Given the description of an element on the screen output the (x, y) to click on. 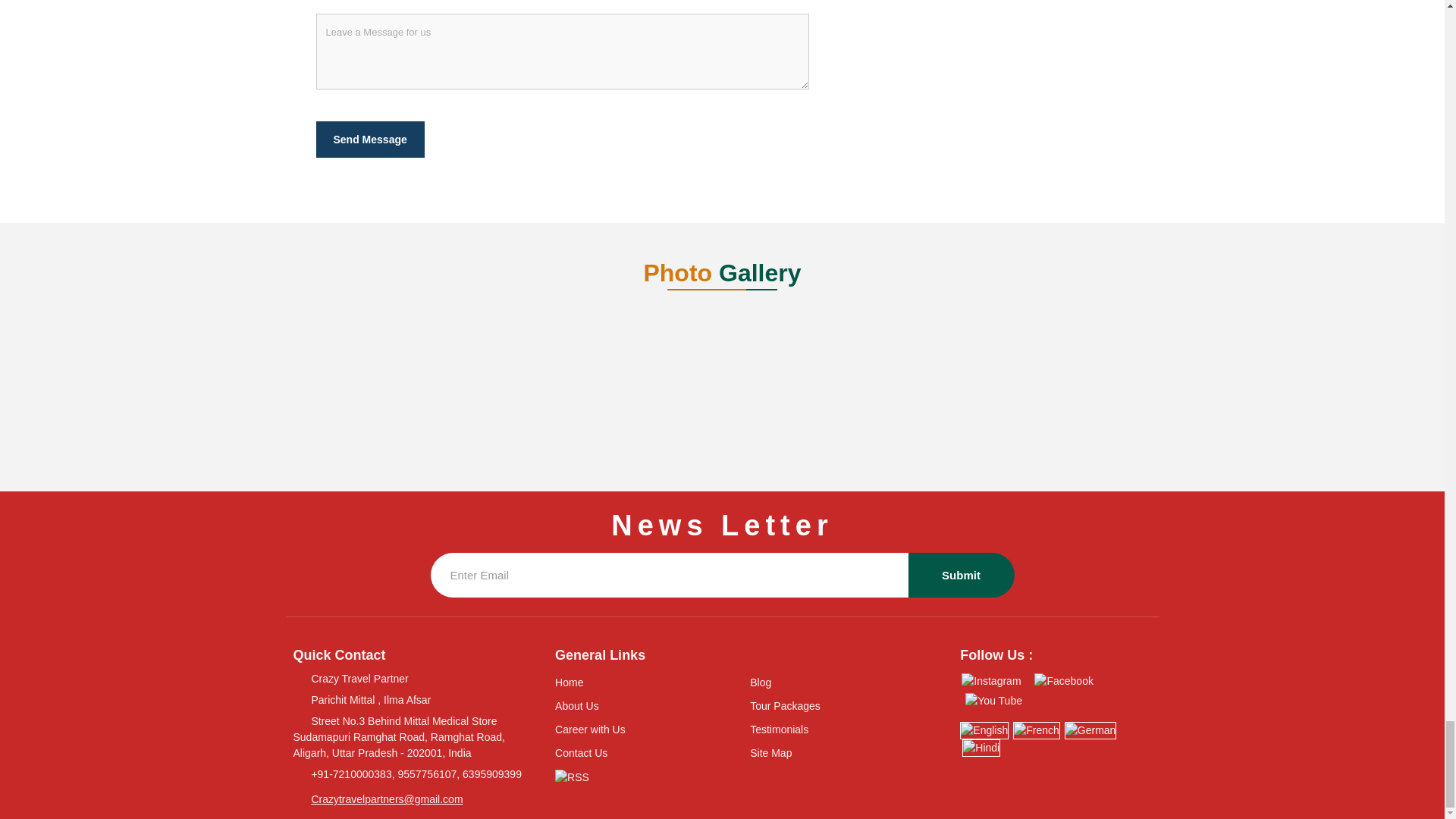
Submit (961, 574)
Send Message (369, 139)
Enter Email (669, 574)
